Given the description of an element on the screen output the (x, y) to click on. 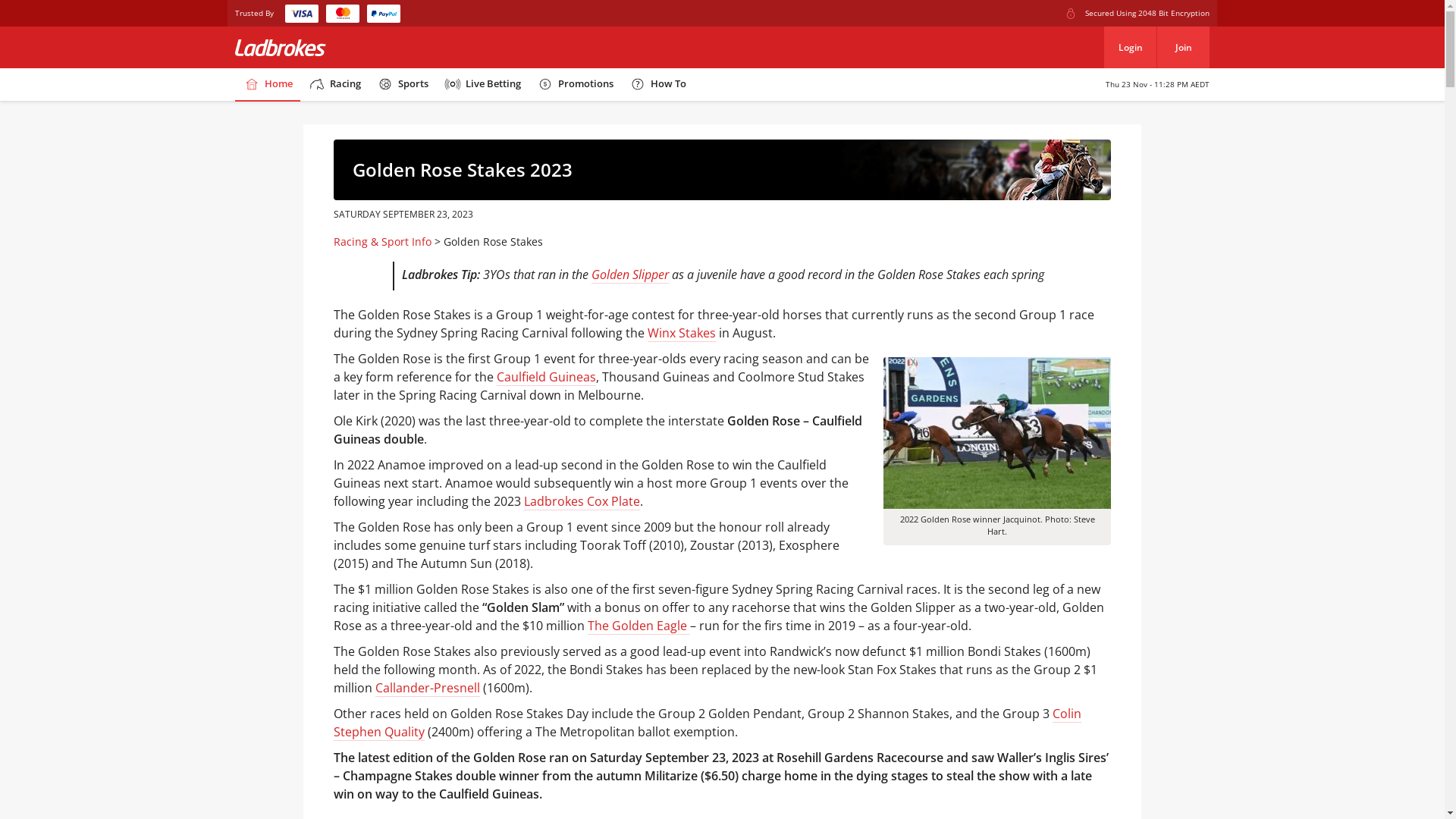
Golden Slipper Element type: text (629, 274)
Live Betting Element type: text (482, 84)
Login Element type: text (1129, 47)
Home Element type: text (267, 84)
Join Element type: text (1182, 47)
Colin Stephen Quality Element type: text (707, 722)
Promotions Element type: text (574, 84)
The Golden Eagle Element type: text (638, 625)
Sports Element type: text (402, 84)
How To Element type: text (657, 84)
Winx Stakes Element type: text (681, 333)
Ladbrokes Cox Plate Element type: text (582, 501)
Racing Element type: text (334, 84)
Caulfield Guineas Element type: text (546, 376)
Callander-Presnell Element type: text (427, 687)
Racing & Sport Info Element type: text (382, 241)
